Given the description of an element on the screen output the (x, y) to click on. 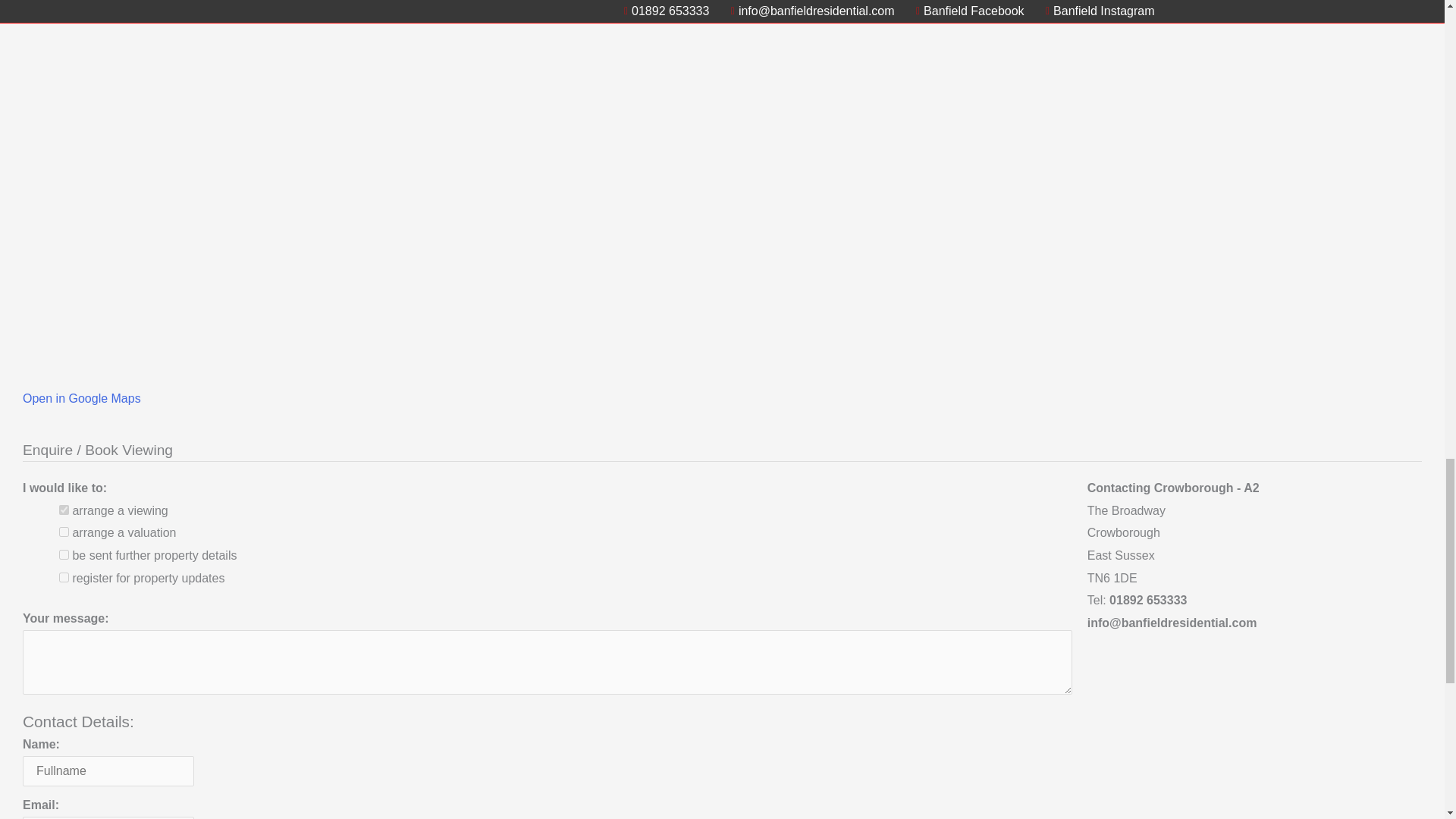
true (63, 532)
true (63, 554)
true (63, 510)
true (63, 577)
